Given the description of an element on the screen output the (x, y) to click on. 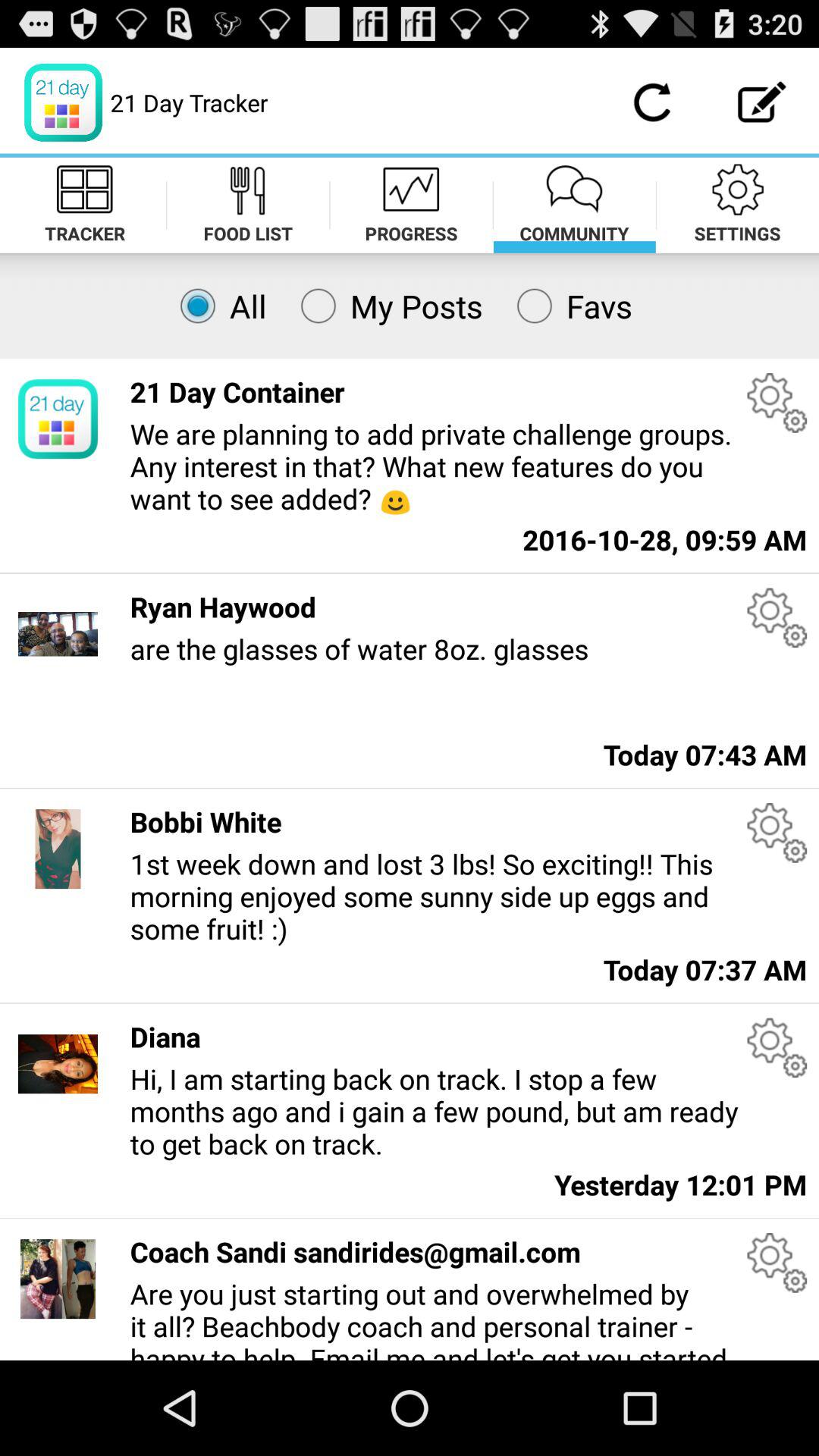
create post (763, 102)
